Given the description of an element on the screen output the (x, y) to click on. 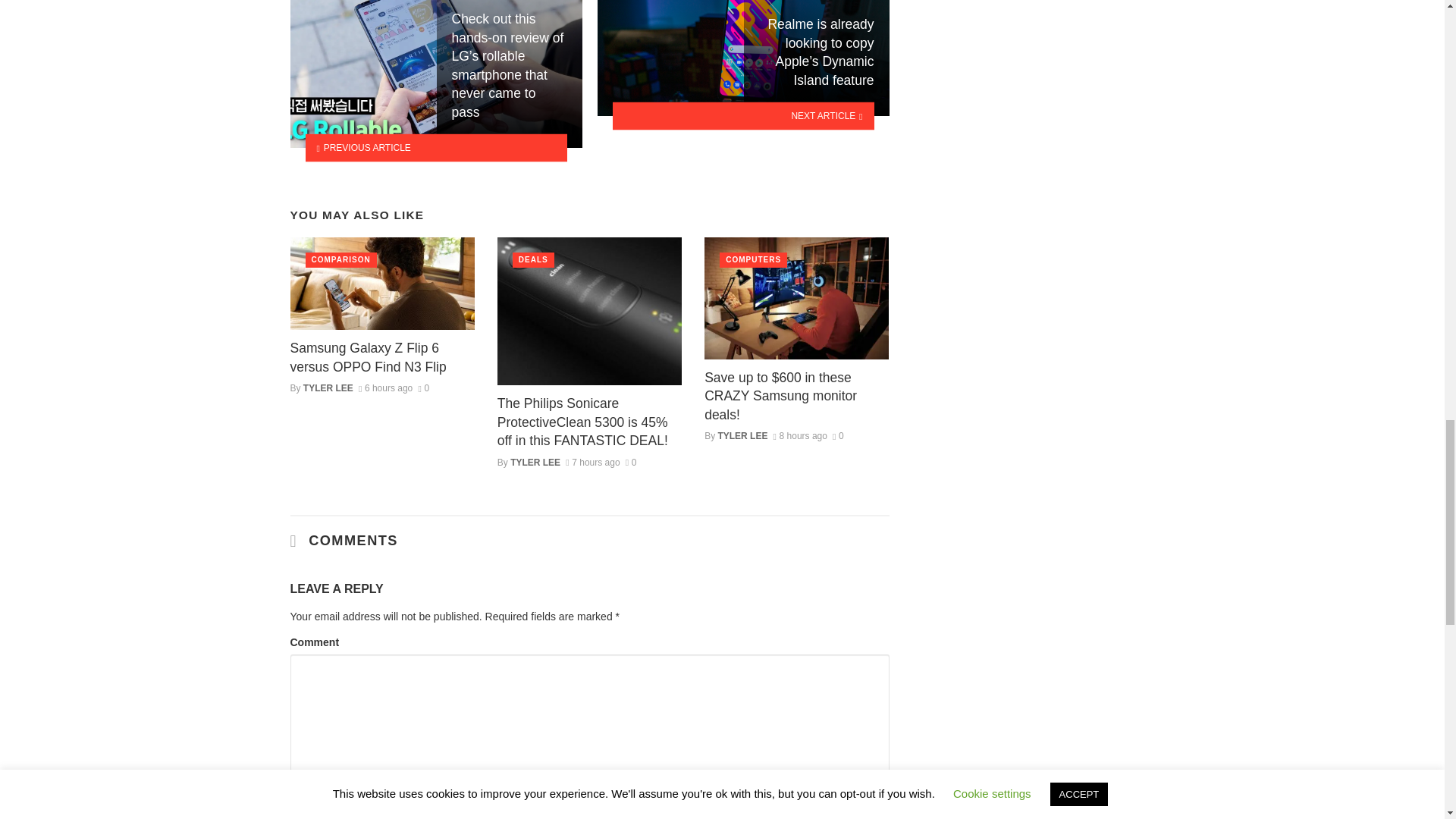
0 Comments (631, 462)
July 19, 2024 at 7:25 am (593, 462)
July 19, 2024 at 8:48 am (385, 388)
0 Comments (423, 388)
